Given the description of an element on the screen output the (x, y) to click on. 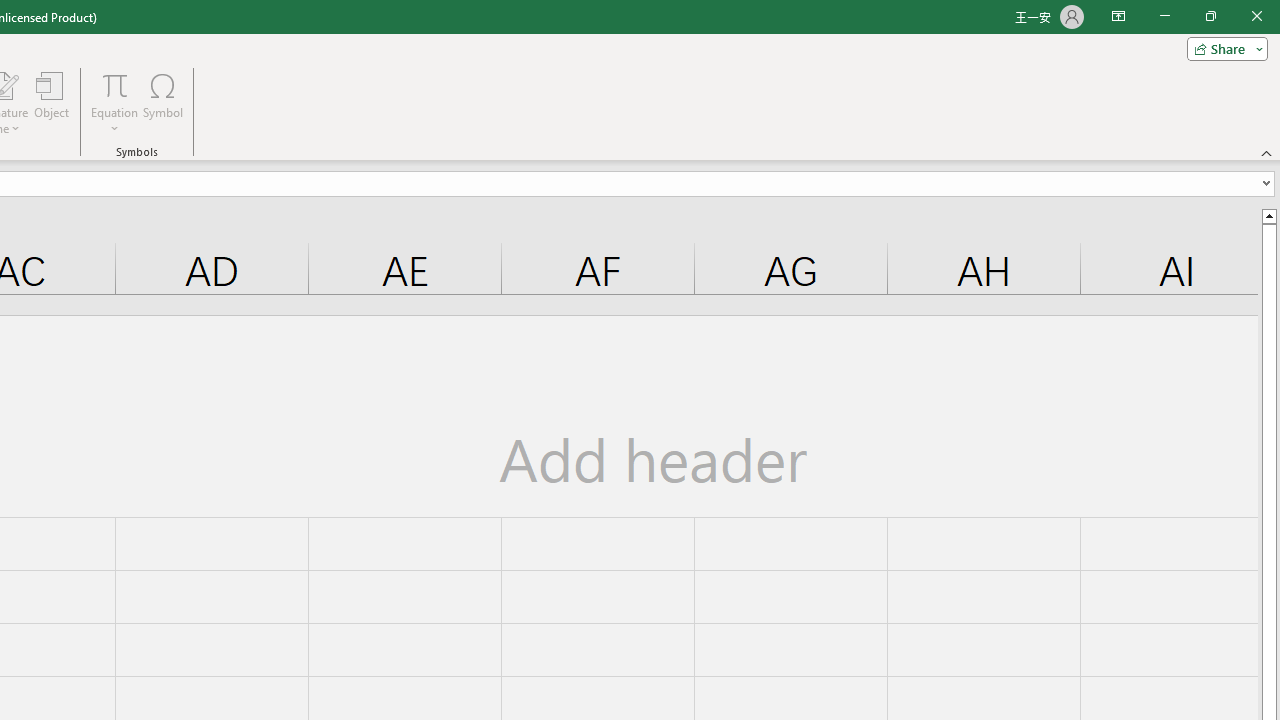
Object... (51, 102)
Equation (114, 102)
Equation (114, 84)
Symbol... (162, 102)
